Given the description of an element on the screen output the (x, y) to click on. 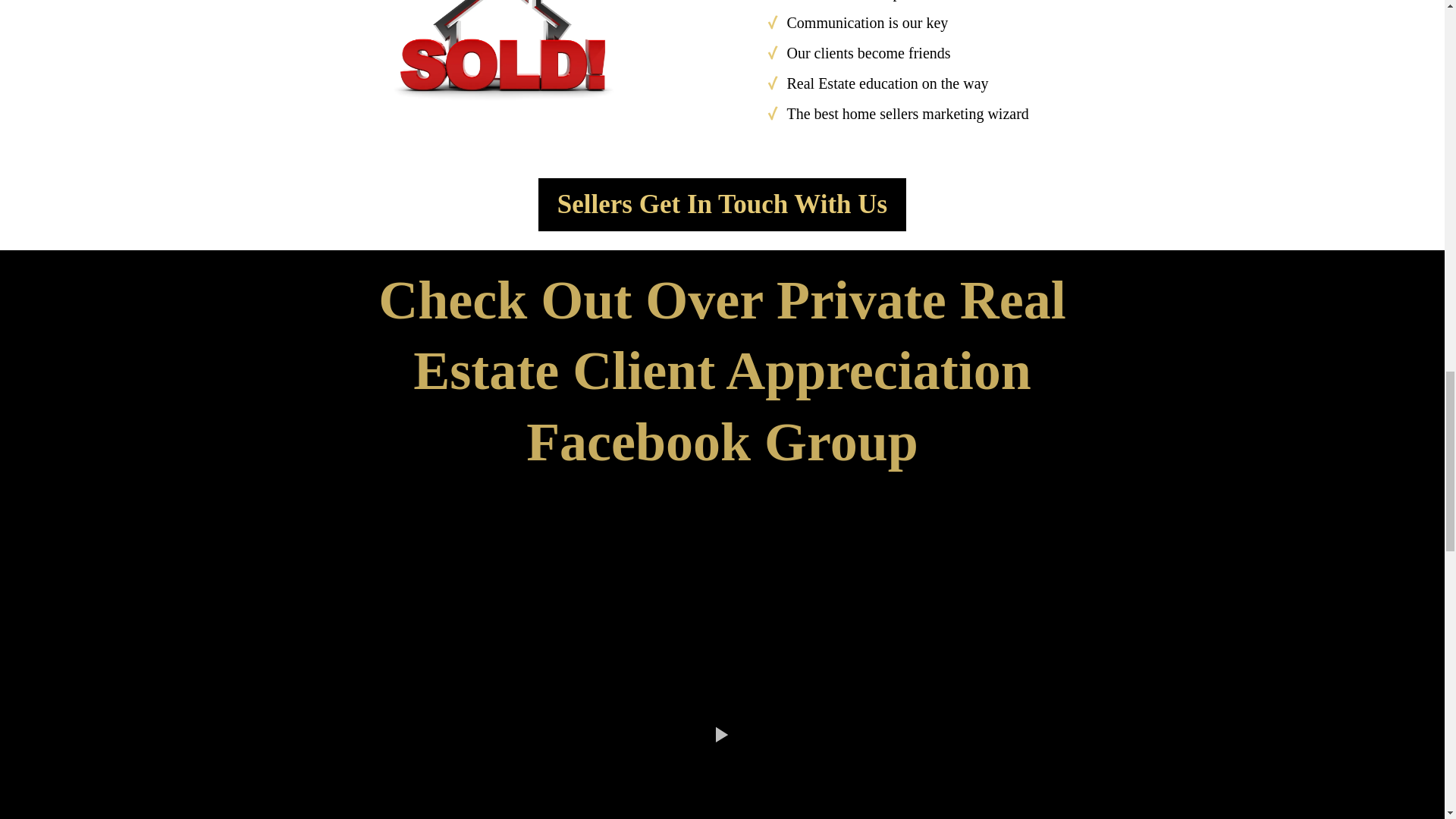
Sellers Get In Touch With Us (721, 204)
